Given the description of an element on the screen output the (x, y) to click on. 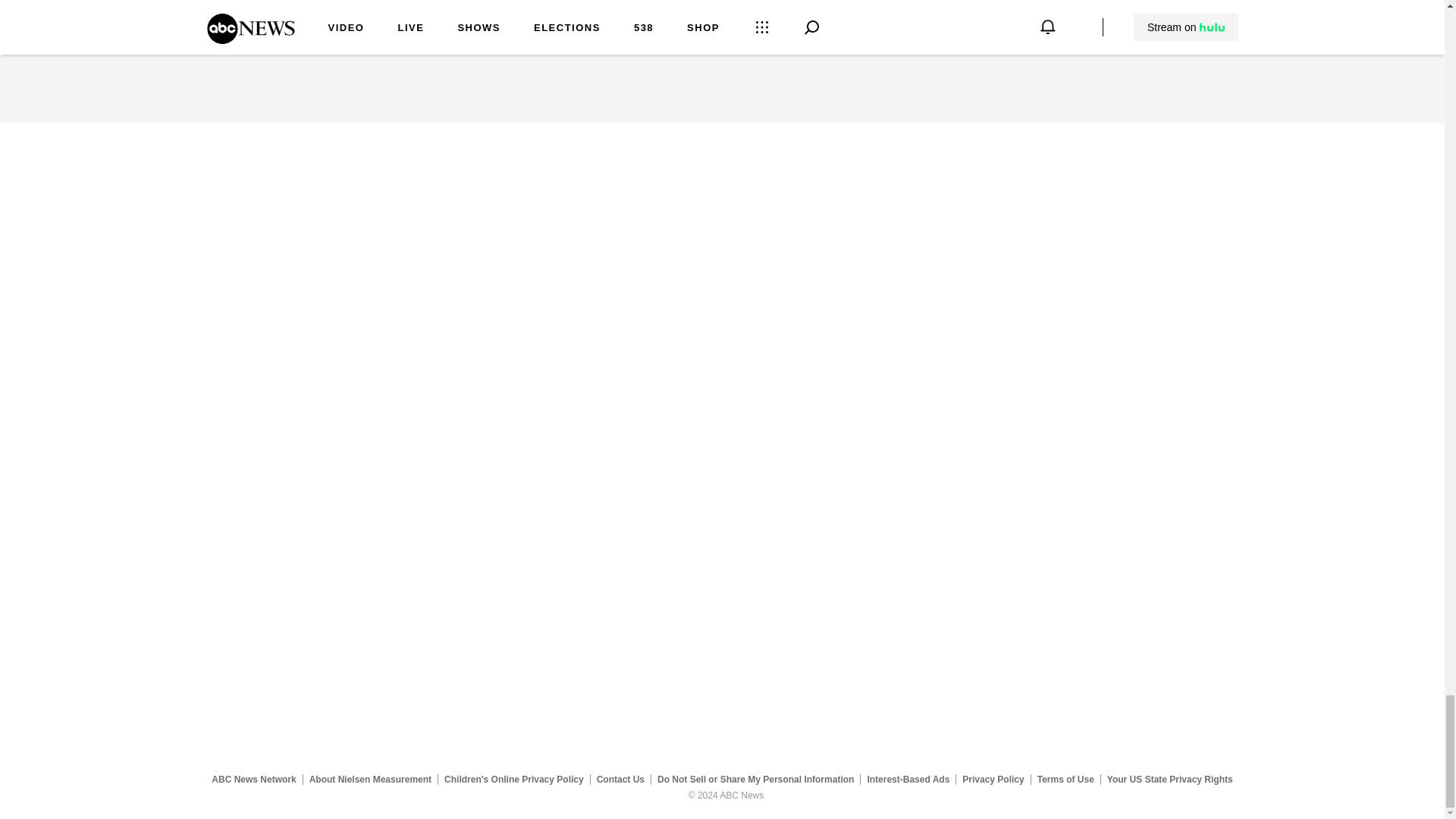
Children's Online Privacy Policy (514, 778)
ABC News Network (253, 778)
Contact Us (620, 778)
About Nielsen Measurement (370, 778)
